Given the description of an element on the screen output the (x, y) to click on. 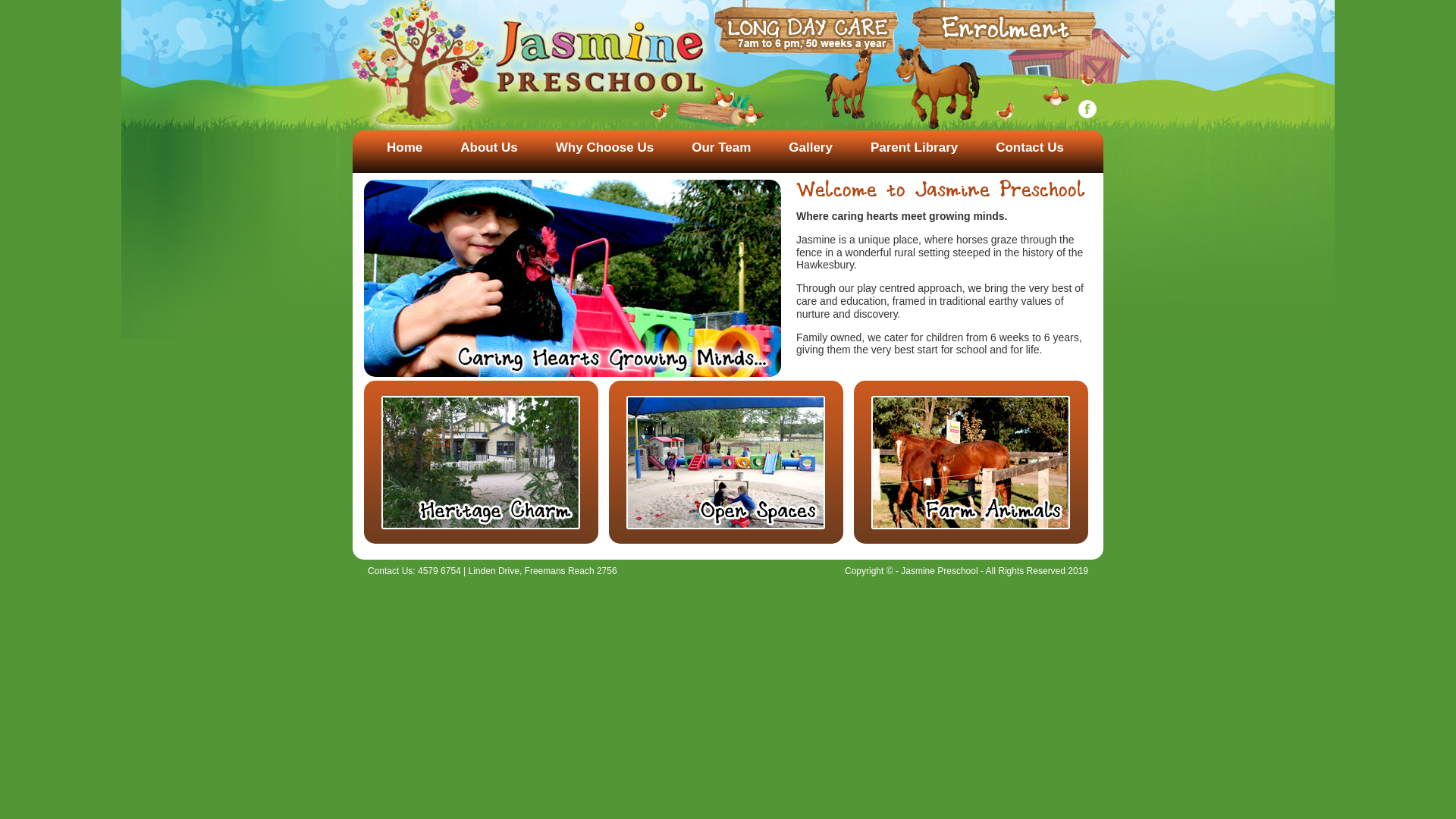
Heritage Charm Element type: hover (481, 461)
Parent Library Element type: text (913, 147)
Our Team Element type: text (720, 147)
Home Element type: text (404, 147)
Jasmine Preschool Element type: text (527, 68)
Enrolment Element type: text (1003, 25)
Why Choose Us Element type: text (604, 147)
Long Day Care - 7am to 6 pm, 50 weeks a year Element type: text (805, 26)
About Us Element type: text (488, 147)
Contact Us Element type: text (1029, 147)
Gallery Element type: text (810, 147)
